Given the description of an element on the screen output the (x, y) to click on. 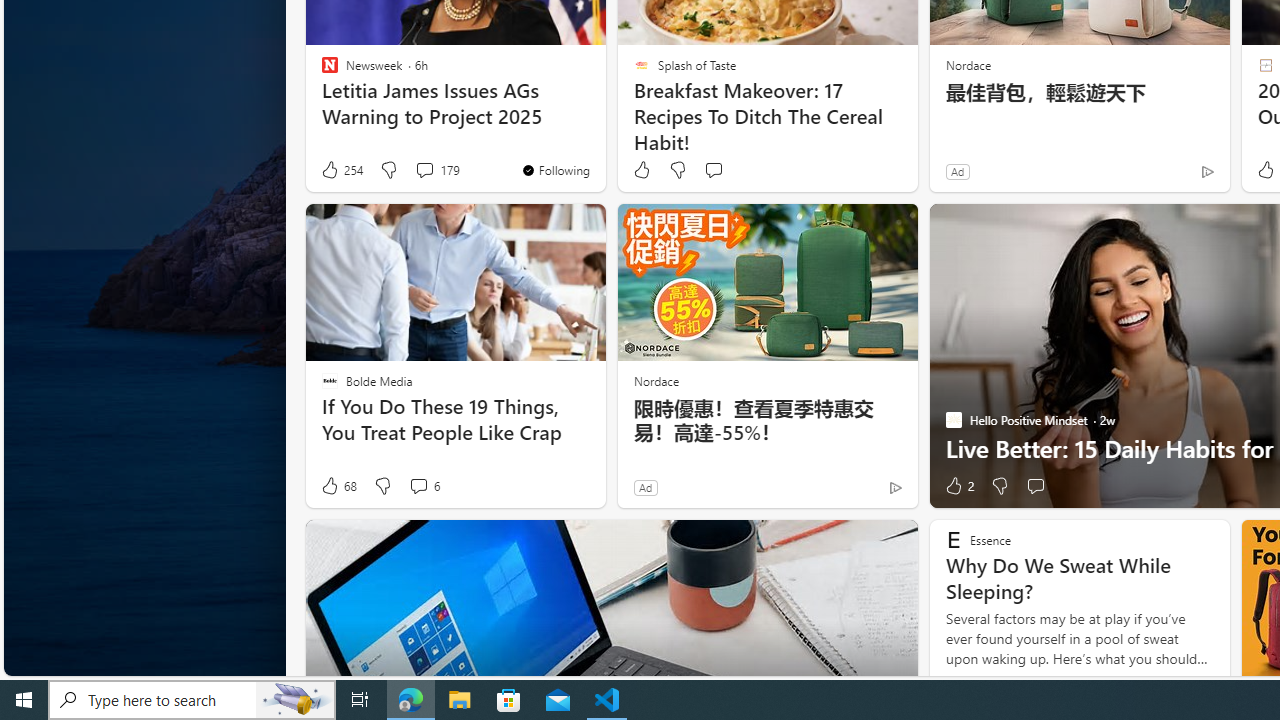
Start the conversation (1035, 485)
View comments 179 Comment (424, 169)
View comments 6 Comment (418, 485)
254 Like (341, 170)
68 Like (337, 485)
2 Like (957, 485)
Dislike (998, 485)
Like (641, 170)
Nordace (655, 380)
View comments 6 Comment (423, 485)
You're following Newsweek (555, 169)
View comments 179 Comment (436, 170)
